Given the description of an element on the screen output the (x, y) to click on. 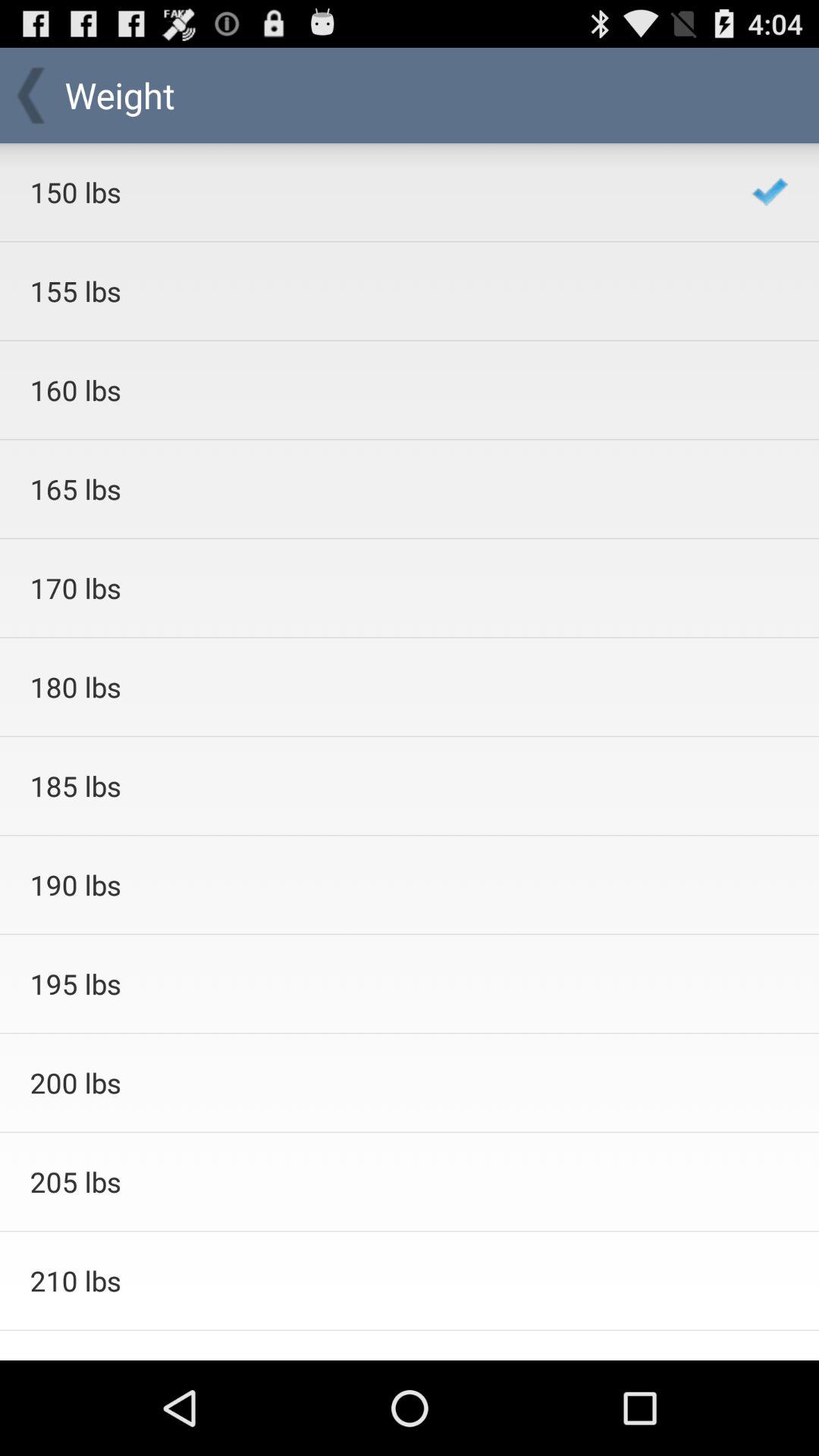
flip to 185 lbs app (371, 785)
